Given the description of an element on the screen output the (x, y) to click on. 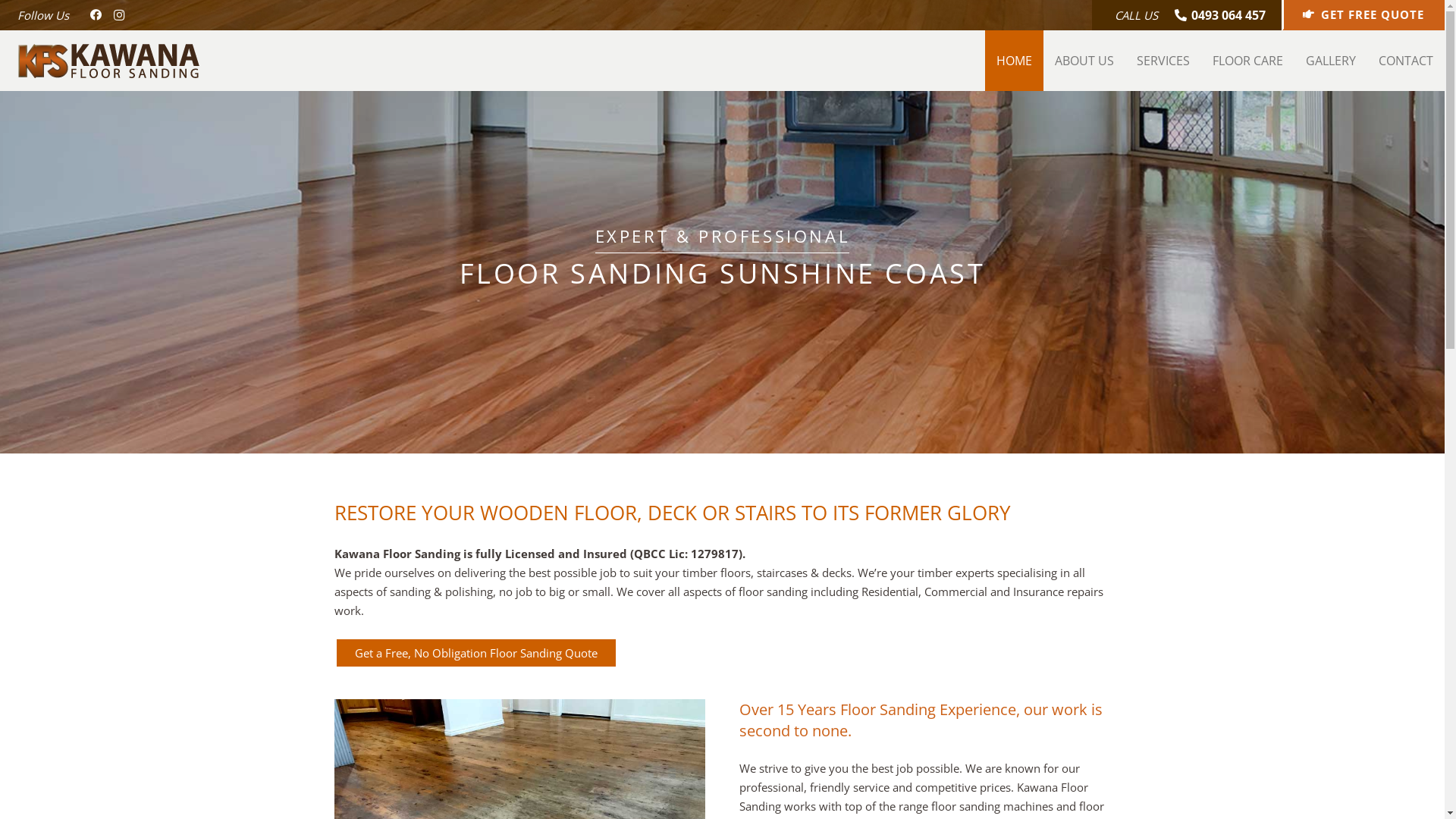
0493 064 457 Element type: text (1219, 14)
Instagram Element type: hover (118, 14)
SERVICES Element type: text (1163, 60)
CONTACT Element type: text (1404, 60)
FLOOR CARE Element type: text (1247, 60)
GALLERY Element type: text (1329, 60)
HOME Element type: text (1013, 60)
Get a Free, No Obligation Floor Sanding Quote Element type: text (475, 652)
Facebook Element type: hover (95, 14)
ABOUT US Element type: text (1084, 60)
